Given the description of an element on the screen output the (x, y) to click on. 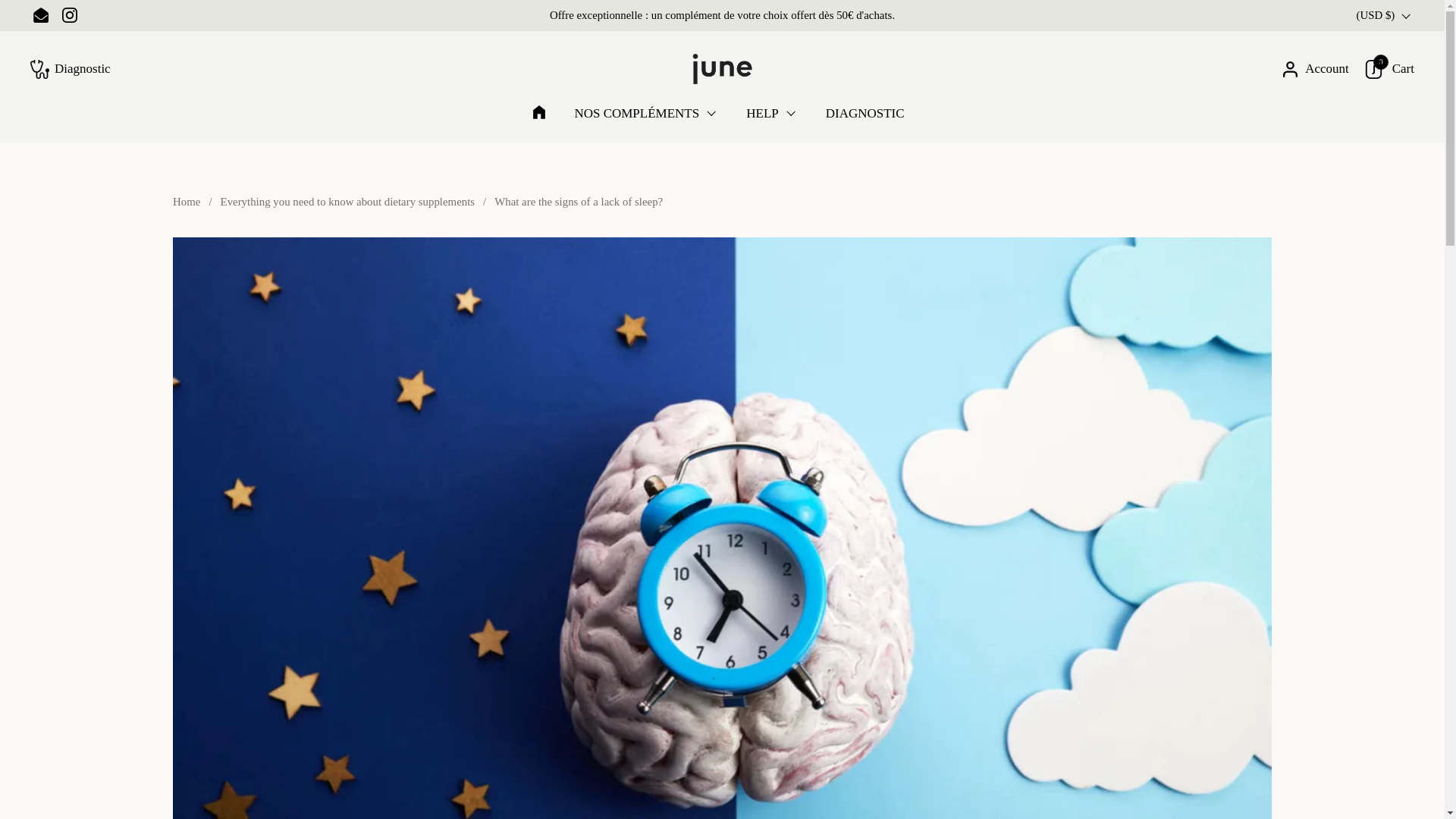
Email (40, 14)
Diagnostic (70, 67)
Open cart (1388, 67)
Account (1315, 67)
June Laboratoire (722, 69)
Instagram (69, 14)
Diagnostic (70, 67)
